Given the description of an element on the screen output the (x, y) to click on. 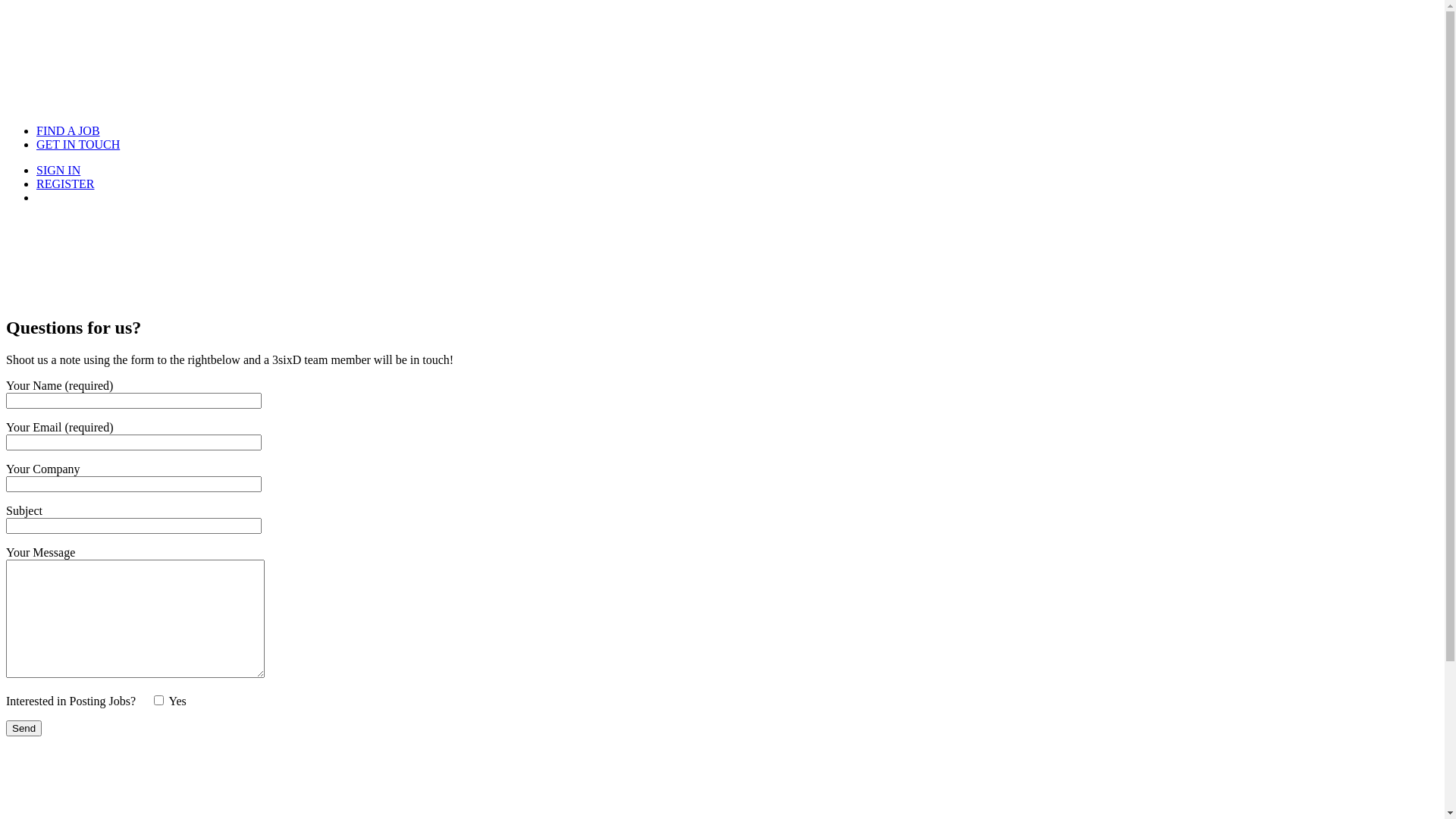
FIND A JOB Element type: text (68, 130)
Send Element type: text (23, 728)
SIGN IN Element type: text (58, 169)
GET IN TOUCH Element type: text (77, 144)
REGISTER Element type: text (65, 183)
